Given the description of an element on the screen output the (x, y) to click on. 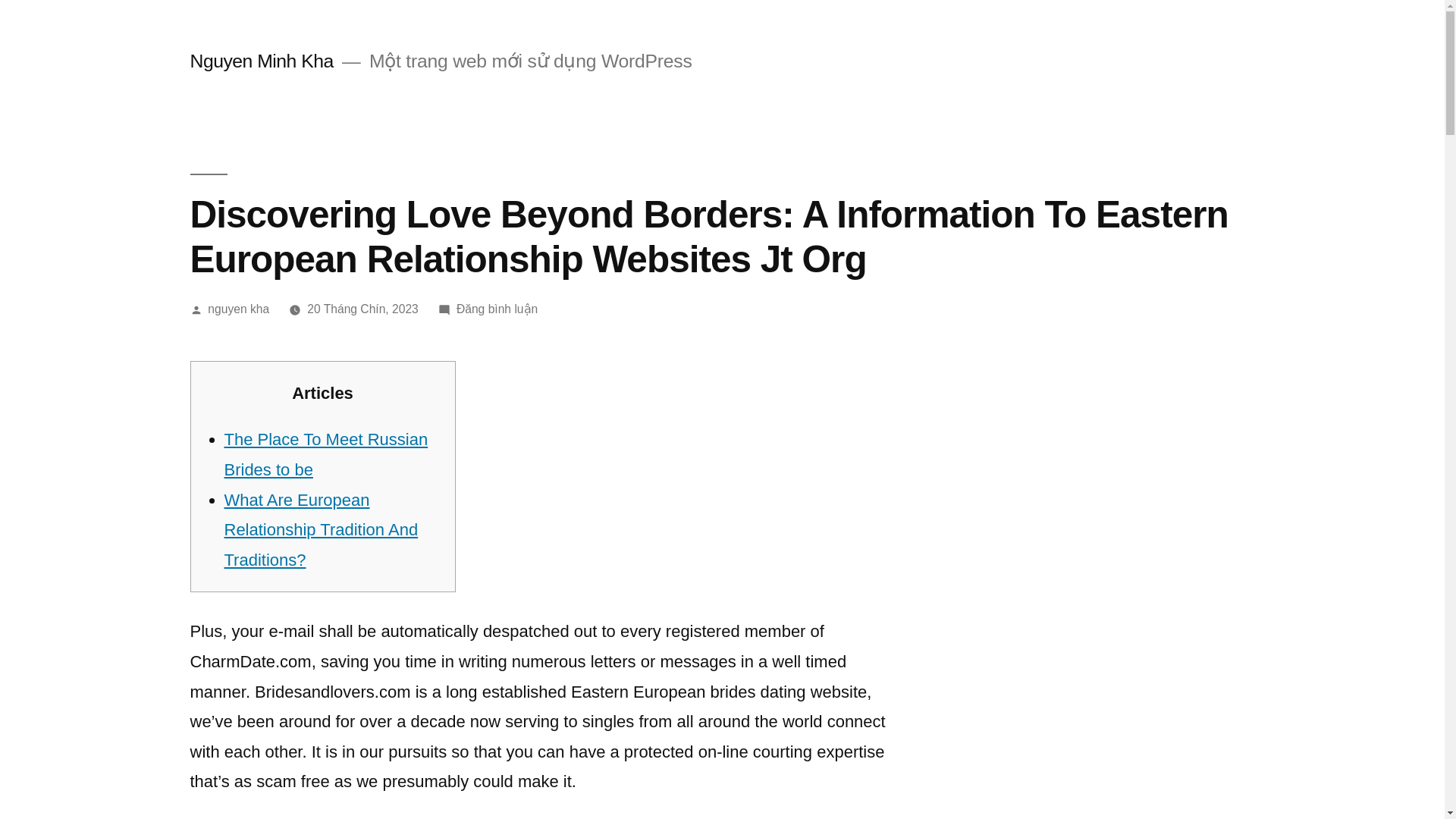
What Are European Relationship Tradition And Traditions? (321, 529)
The Place To Meet Russian Brides to be (326, 454)
Nguyen Minh Kha (261, 60)
nguyen kha (238, 308)
